Given the description of an element on the screen output the (x, y) to click on. 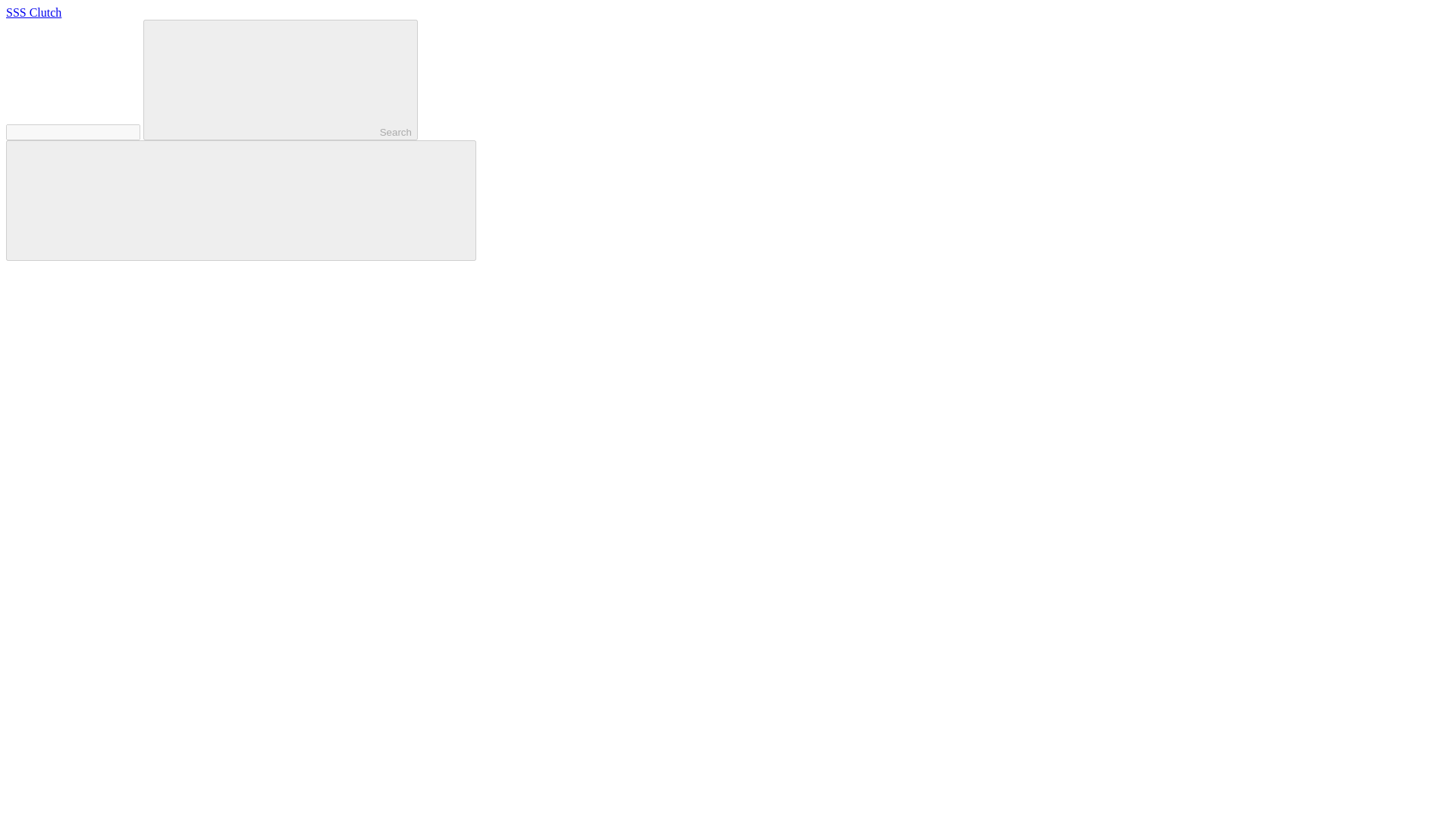
SSS Clutch (33, 11)
Search (279, 79)
